Given the description of an element on the screen output the (x, y) to click on. 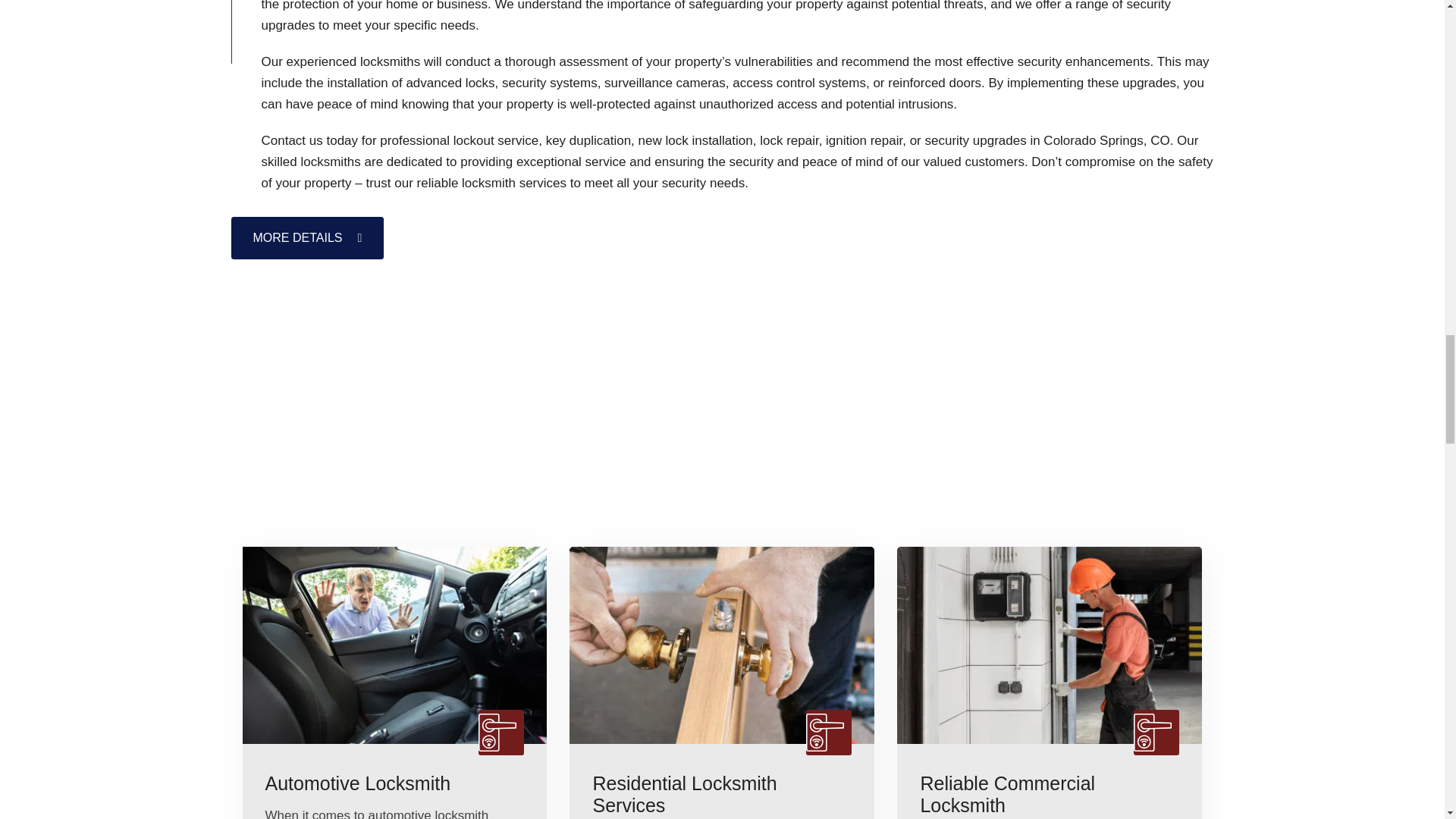
MORE DETAILS (307, 238)
Automotive Locksmith (394, 783)
reliable locksmith services (491, 183)
Reliable Commercial Locksmith (1049, 794)
Residential Locksmith Services (721, 794)
Residential Locksmith (491, 183)
